Given the description of an element on the screen output the (x, y) to click on. 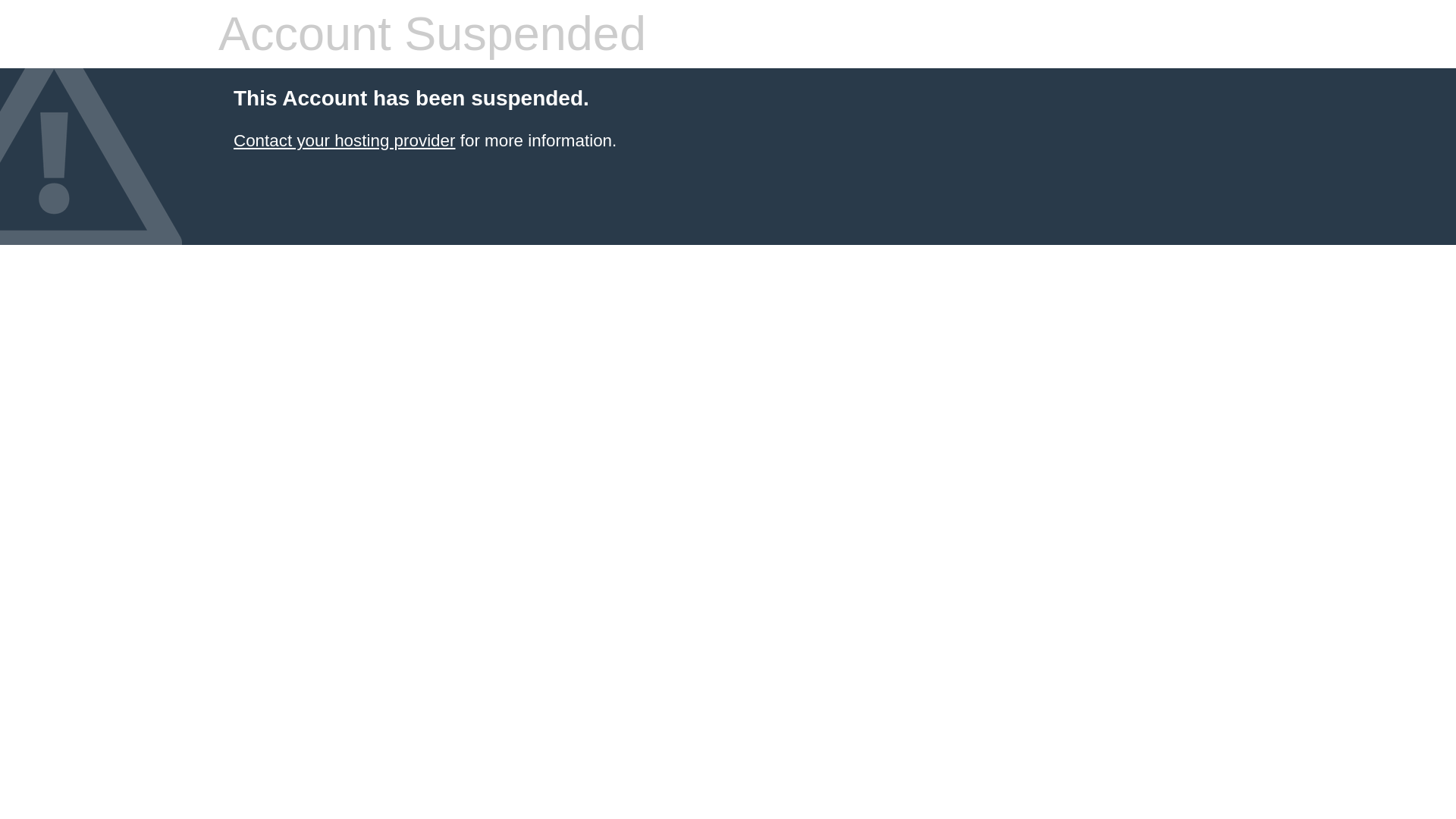
Contact your hosting provider (343, 140)
